Given the description of an element on the screen output the (x, y) to click on. 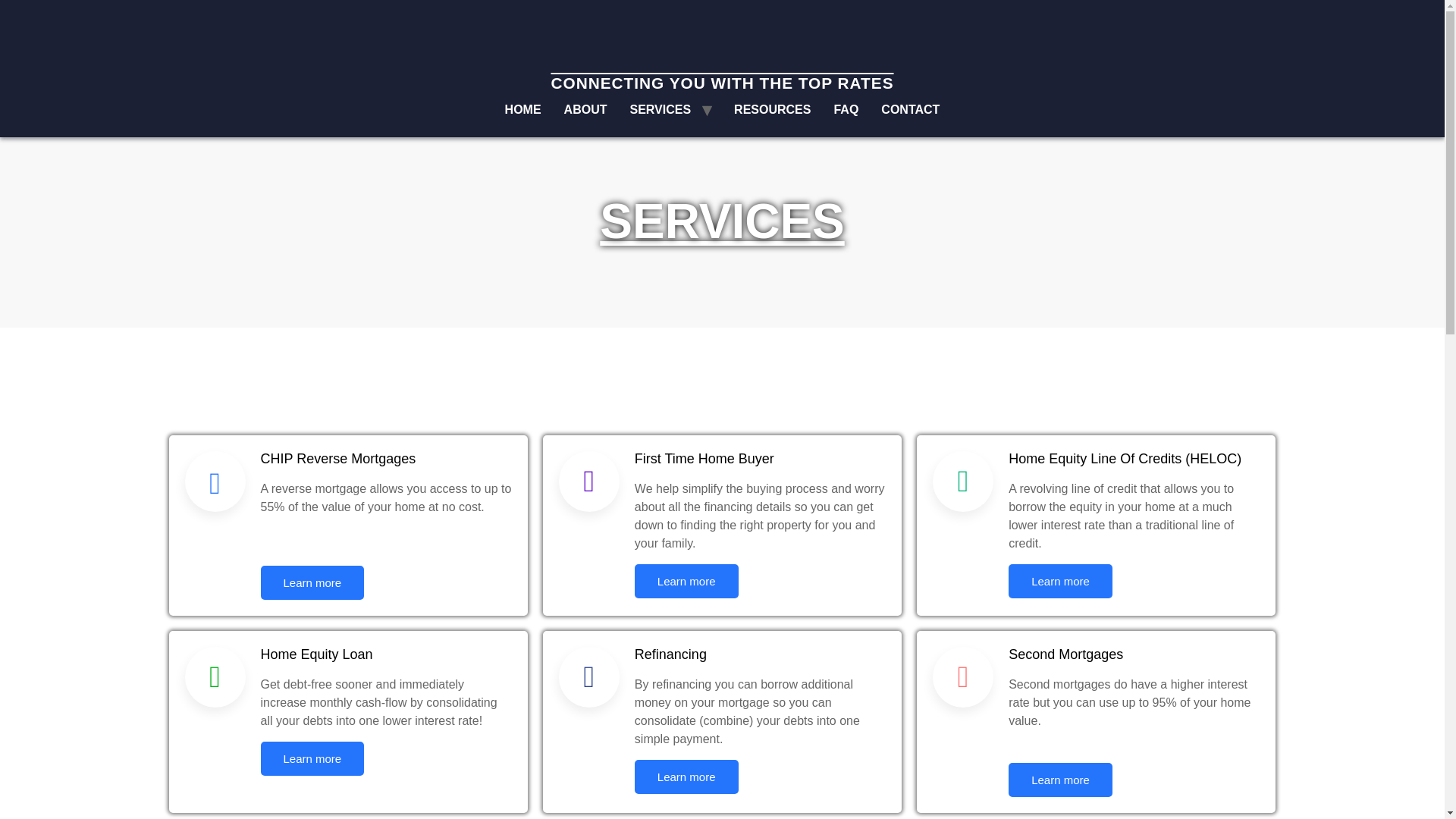
Learn more (312, 582)
Learn more (686, 581)
SERVICES (659, 110)
HOME (523, 110)
Learn more (686, 776)
Learn more (312, 758)
RESOURCES (772, 110)
Home Equity Loan (721, 161)
FAQ (845, 110)
ABOUT (585, 110)
